Given the description of an element on the screen output the (x, y) to click on. 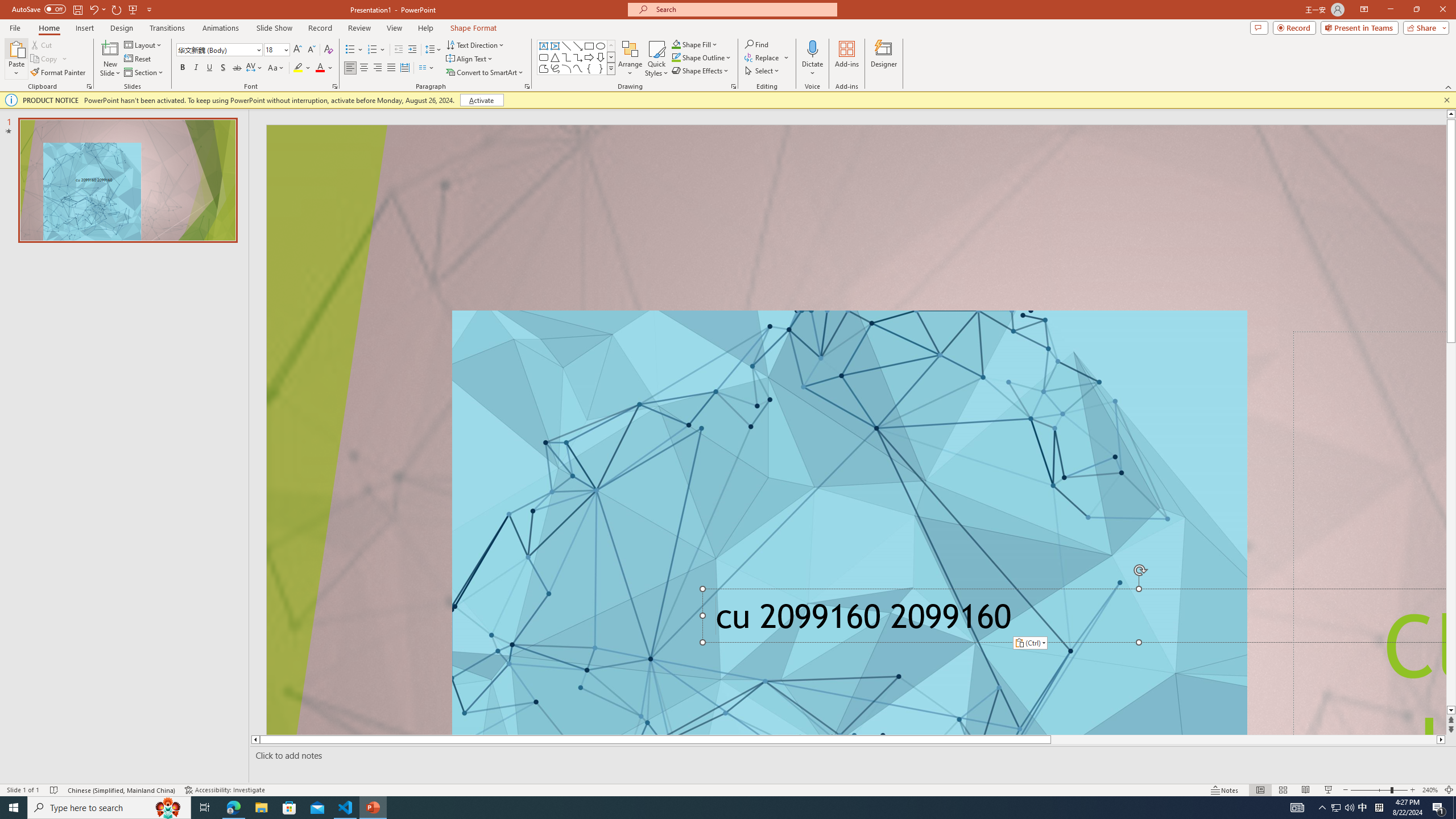
An abstract genetic concept (855, 429)
